Given the description of an element on the screen output the (x, y) to click on. 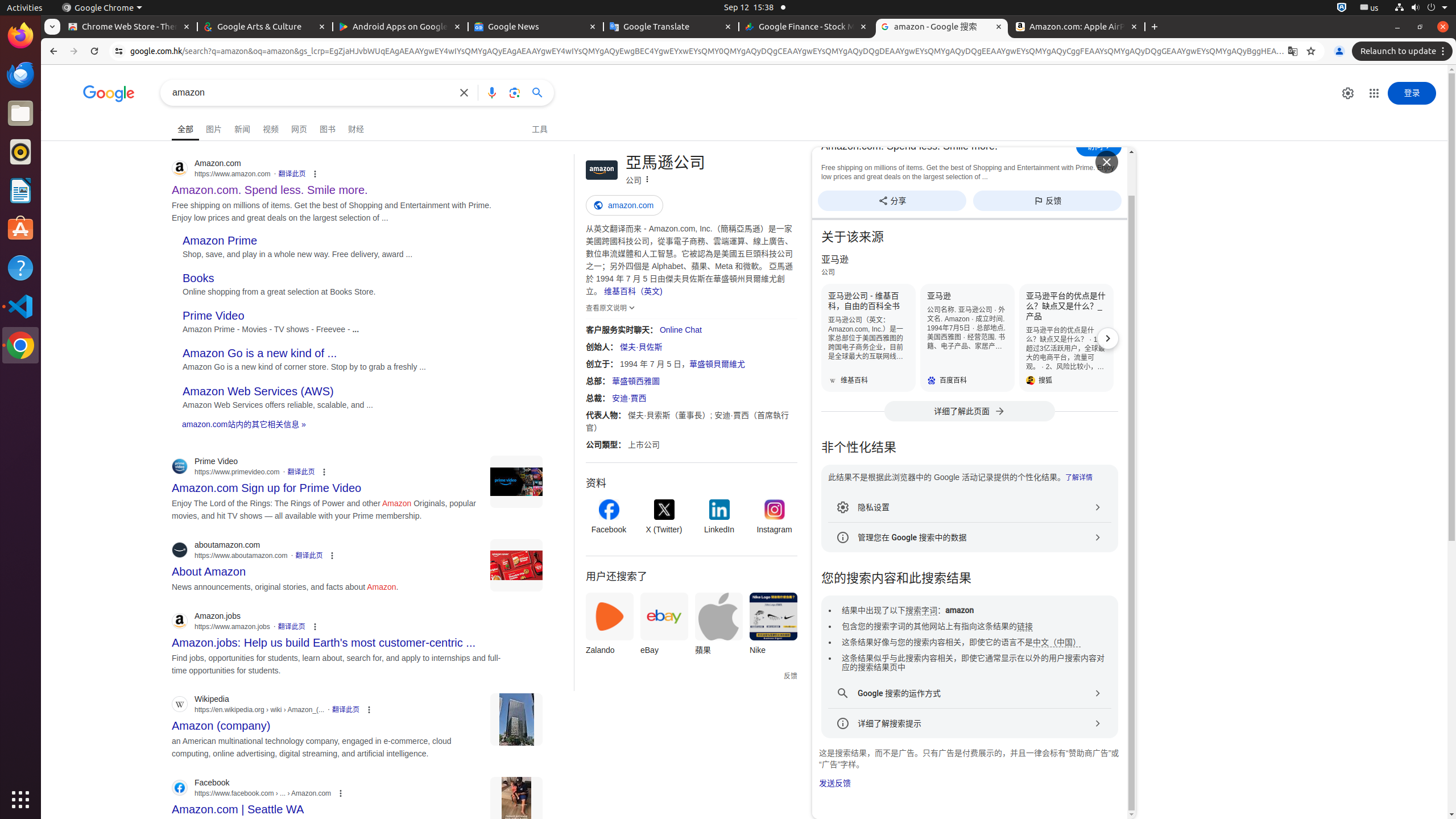
Visual Studio Code Element type: push-button (20, 306)
维基百科（英文) Element type: link (632, 290)
Forward Element type: push-button (73, 50)
“亞馬遜公司”的缩略图图片 Element type: push-button (601, 169)
傑夫·貝佐斯 Element type: link (640, 346)
